Given the description of an element on the screen output the (x, y) to click on. 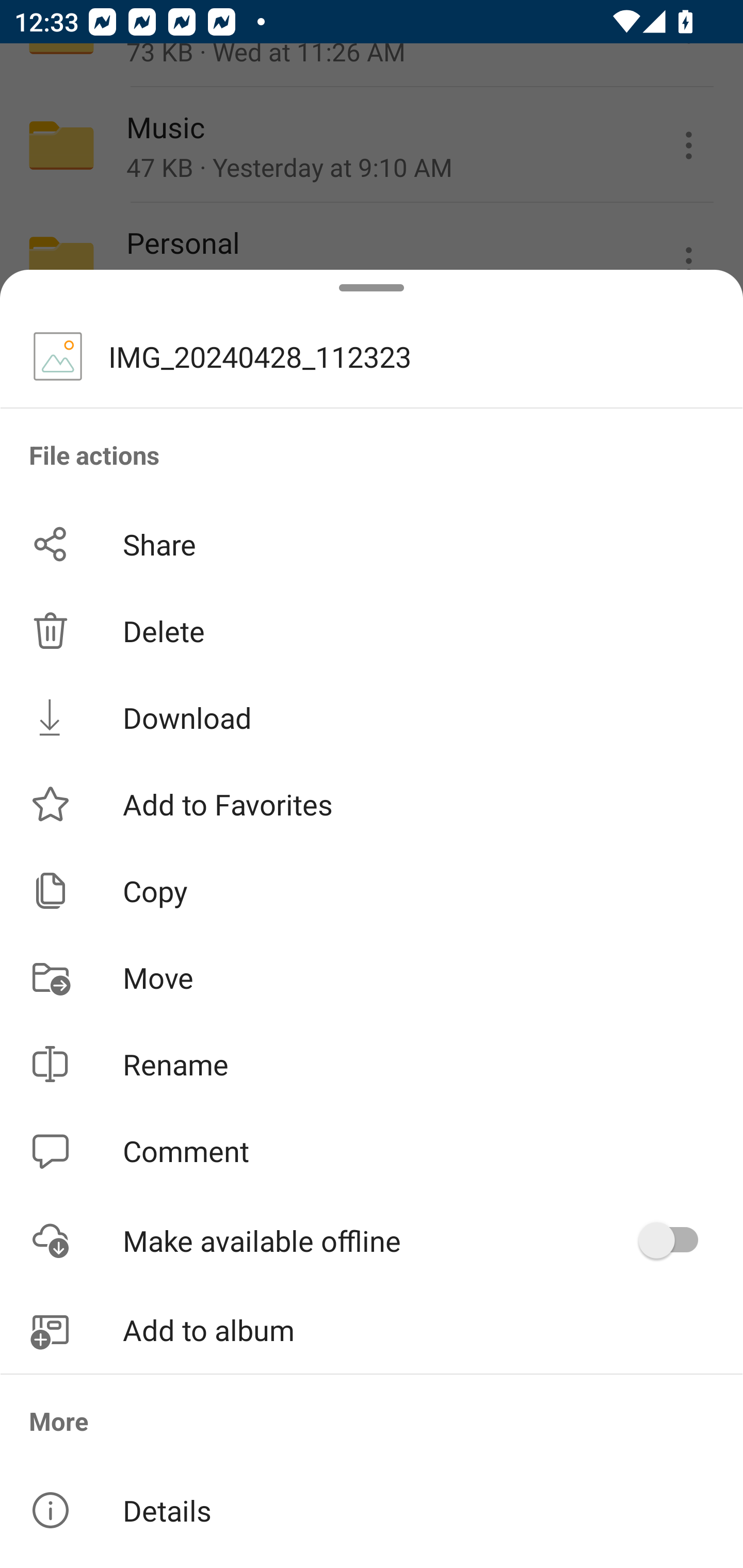
Share button Share (371, 544)
Delete button Delete (371, 631)
Download button Download (371, 717)
Add to Favorites button Add to Favorites (371, 803)
Copy button Copy (371, 890)
Move button Move (371, 977)
Rename button Rename (371, 1063)
Comment button Comment (371, 1150)
Make offline operation (674, 1240)
Add to album button Add to album (371, 1329)
Details button Details (371, 1510)
